Given the description of an element on the screen output the (x, y) to click on. 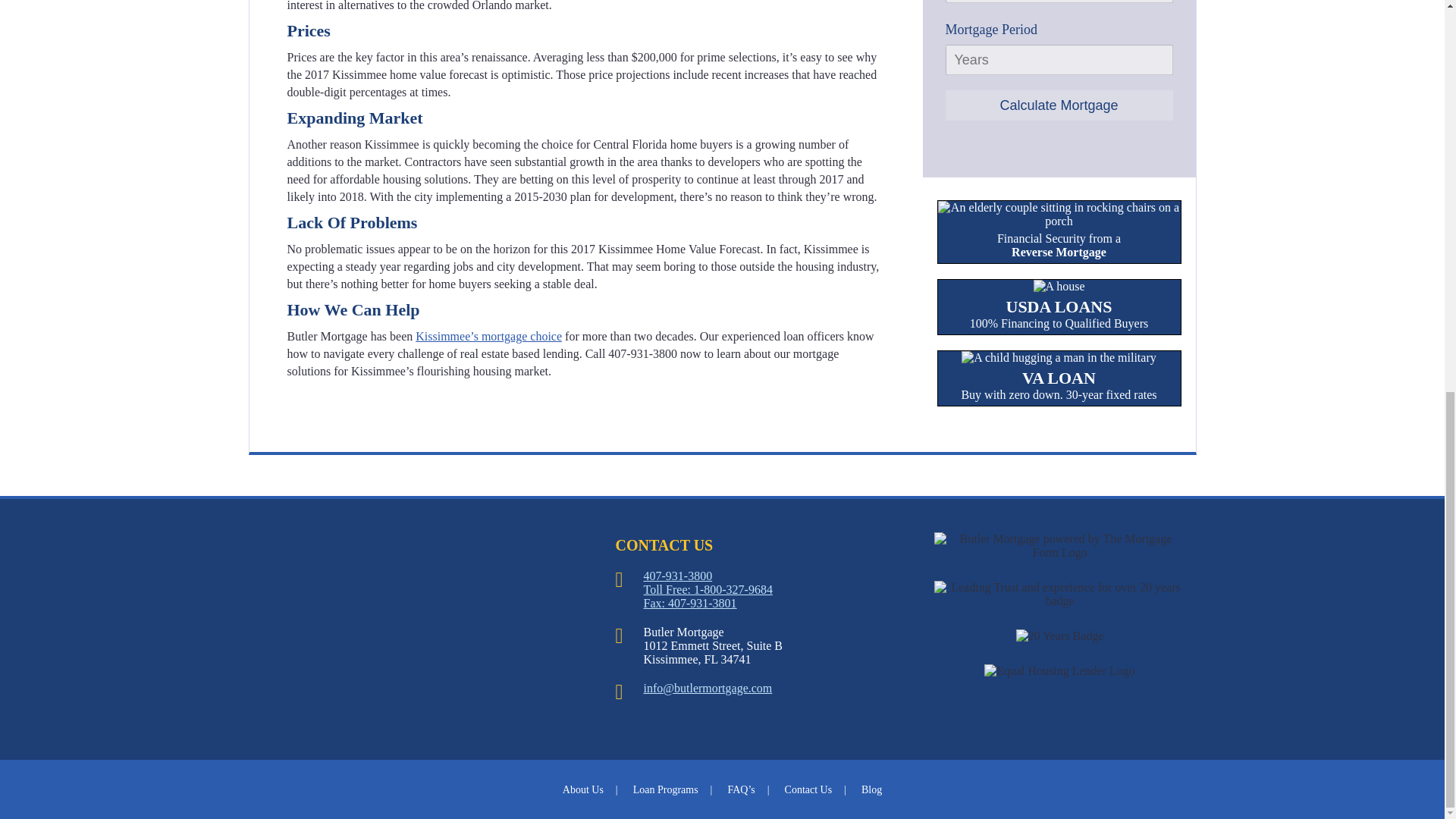
Toll Free: 1-800-327-9684 (1058, 378)
Calculate Mortgage (707, 589)
Calculate Mortgage (1058, 105)
About Us (1058, 105)
407-931-3800 (589, 789)
Loan Programs (677, 575)
Fax: 407-931-3801 (673, 789)
google-map (689, 603)
